Given the description of an element on the screen output the (x, y) to click on. 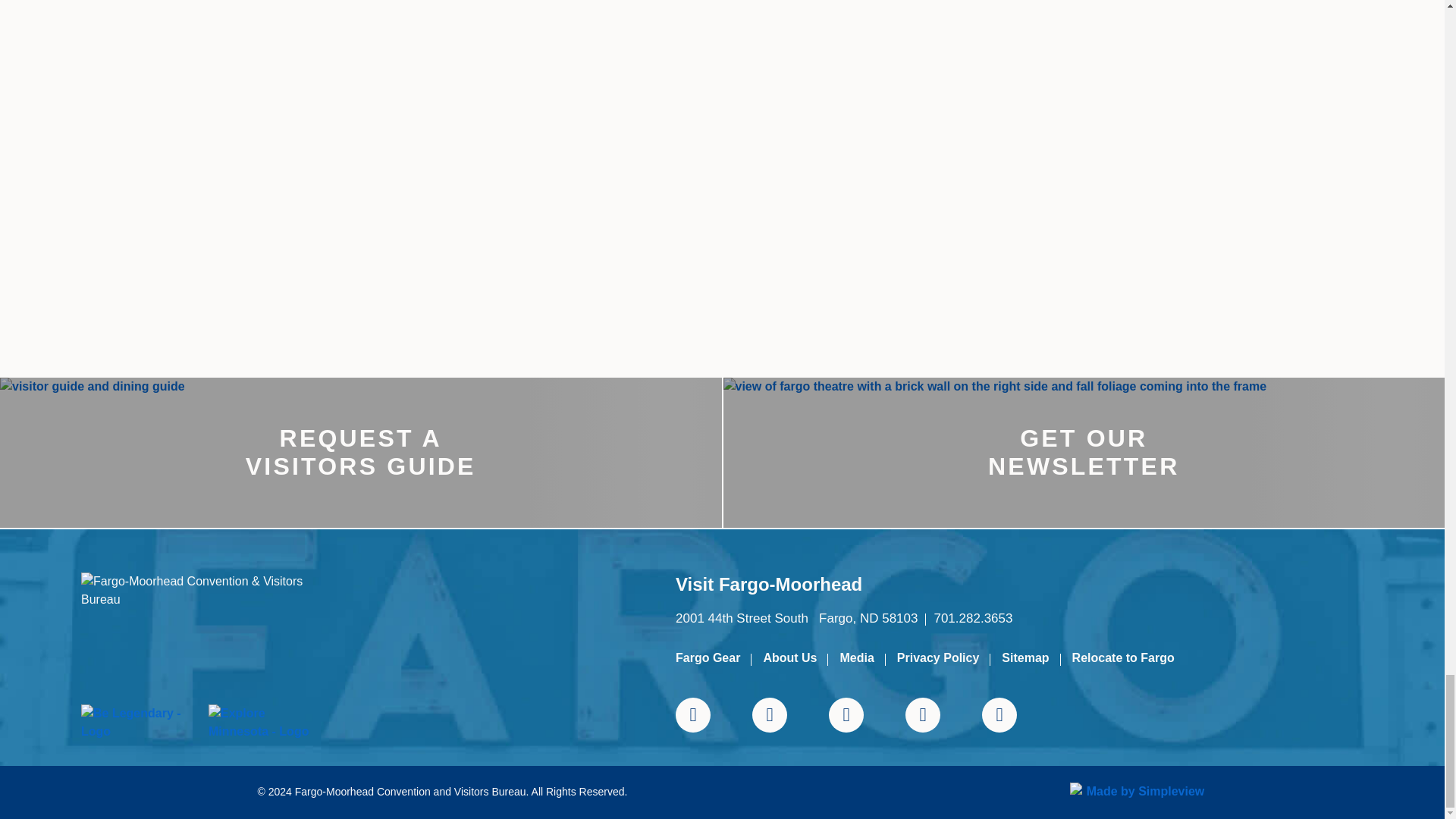
Media (856, 657)
Fargo Gear (707, 657)
About Us (789, 657)
